Given the description of an element on the screen output the (x, y) to click on. 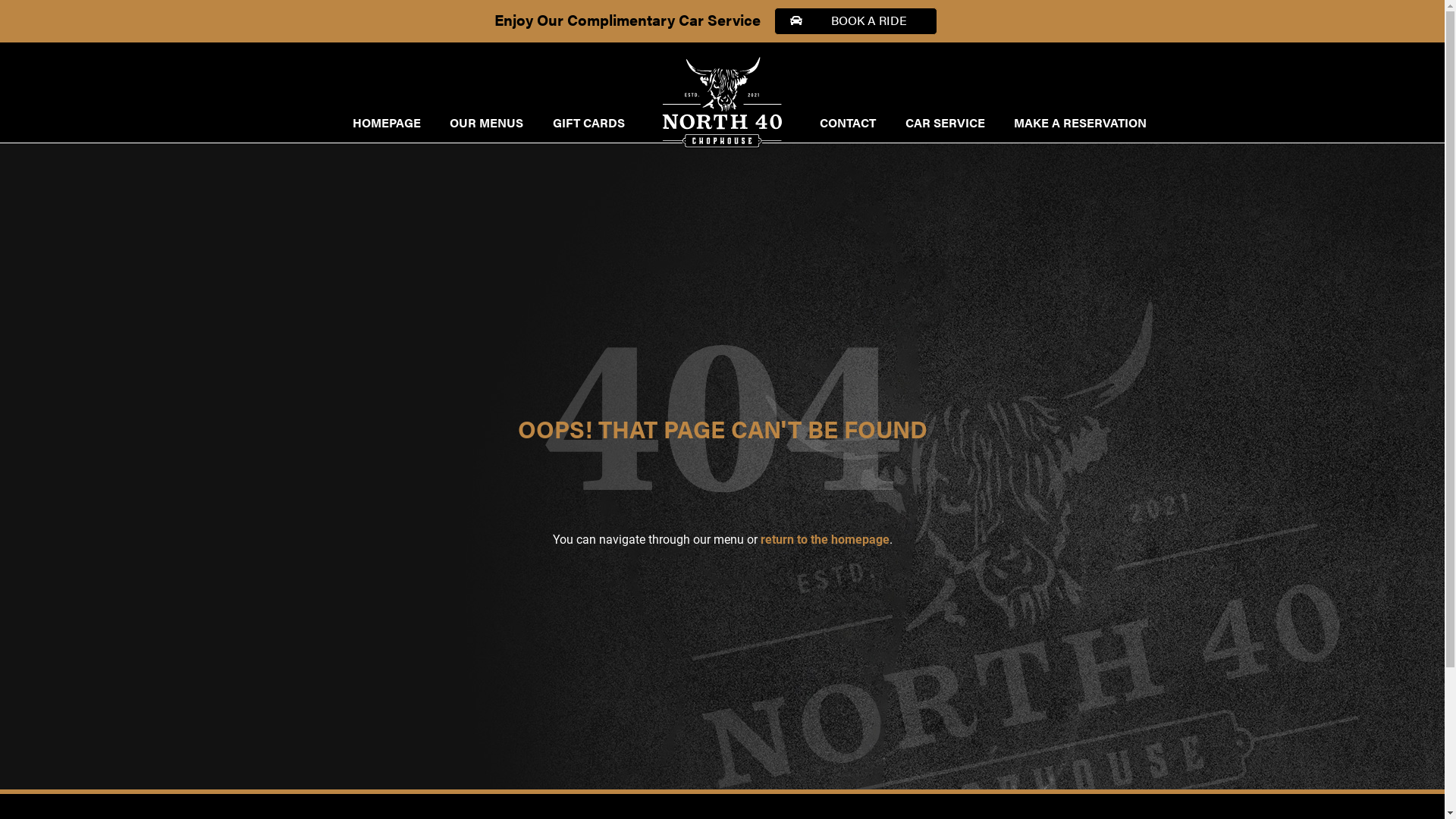
GIFT CARDS Element type: text (588, 122)
CONTACT Element type: text (847, 122)
OUR MENUS Element type: text (486, 122)
HOMEPAGE Element type: text (386, 122)
return to the homepage Element type: text (823, 539)
BOOK A RIDE Element type: text (854, 20)
CAR SERVICE Element type: text (944, 122)
Enjoy Our Complimentary Car Service Element type: text (627, 18)
MAKE A RESERVATION Element type: text (1080, 122)
